Given the description of an element on the screen output the (x, y) to click on. 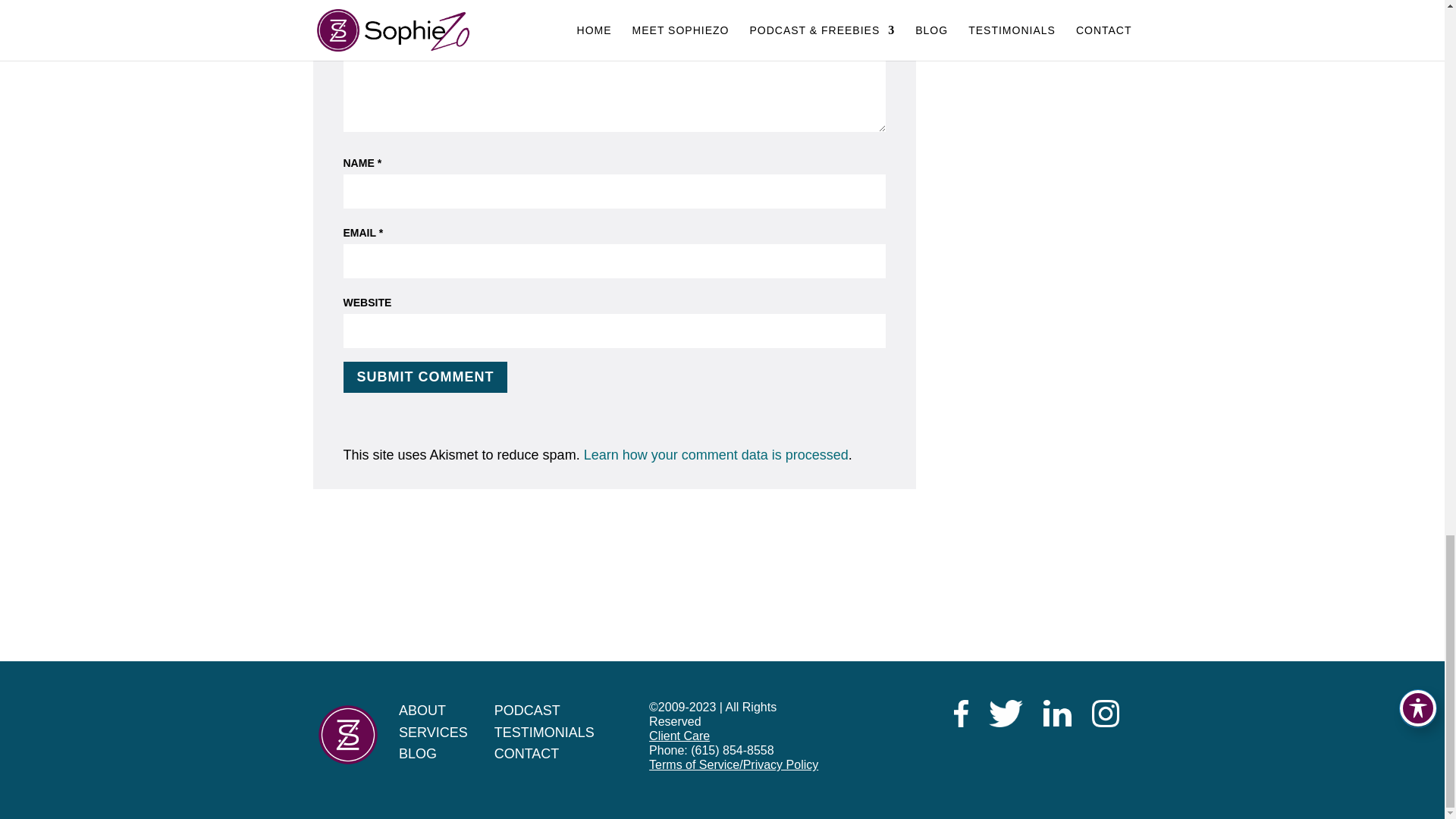
SUBMIT COMMENT (424, 377)
Learn how your comment data is processed (715, 454)
